Given the description of an element on the screen output the (x, y) to click on. 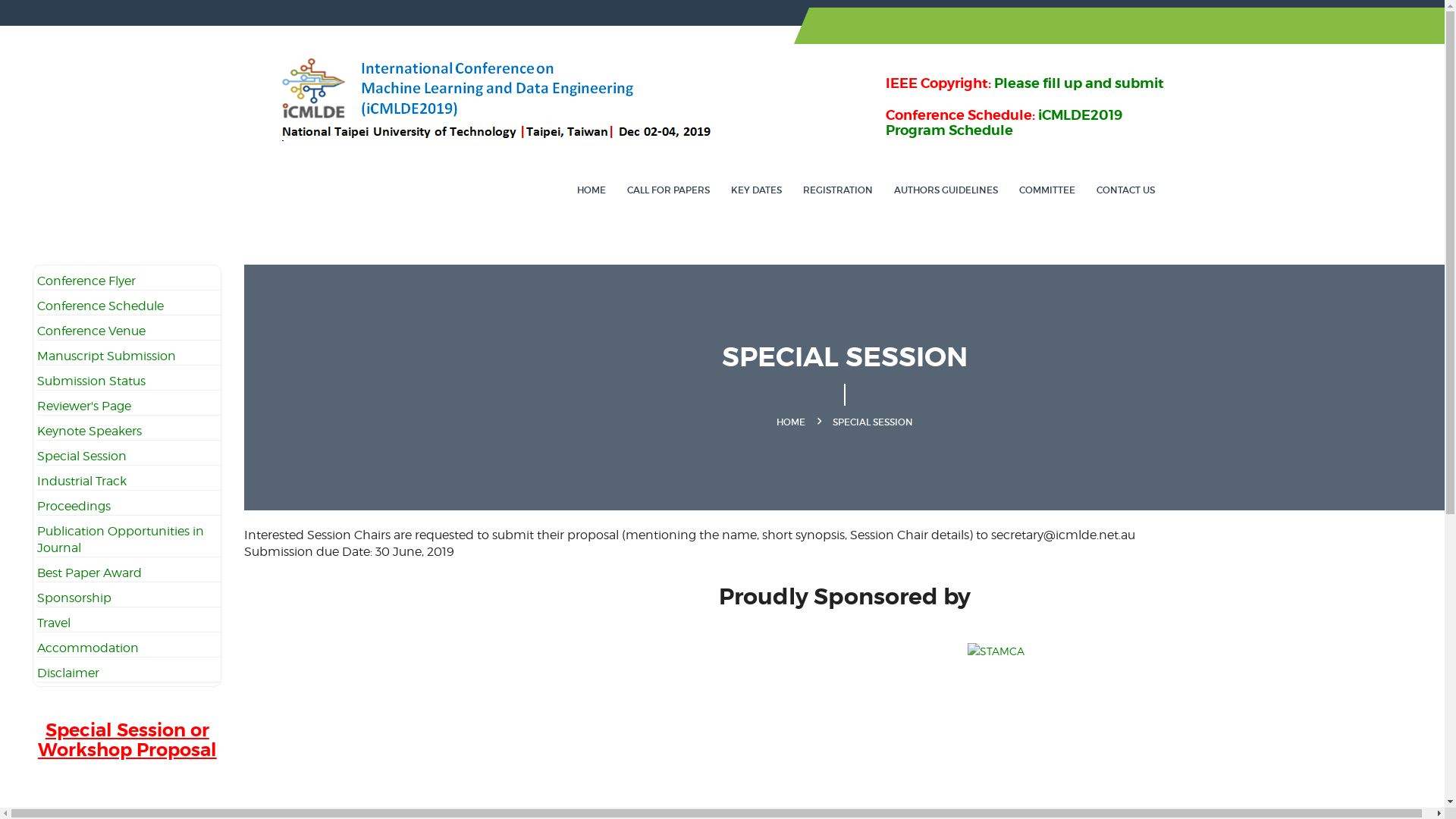
Submission Status Element type: text (91, 380)
Conference Schedule Element type: text (100, 305)
Sponsorship Element type: text (74, 597)
Keynote Speakers Element type: text (89, 430)
Best Paper Award Element type: text (89, 572)
iCMLDE2019 Program Schedule Element type: text (1003, 122)
HOME Element type: text (790, 421)
CONTACT US Element type: text (1125, 189)
Special Session or Workshop Proposal Element type: text (126, 747)
Industrial Track Element type: text (81, 480)
AUTHORS GUIDELINES Element type: text (945, 189)
Conference Venue Element type: text (91, 330)
Publication Opportunities in Journal Element type: text (120, 539)
Reviewer's Page Element type: text (84, 405)
Special Session Element type: text (81, 455)
Proceedings Element type: text (73, 505)
HOME Element type: text (590, 189)
Manuscript Submission Element type: text (106, 355)
COMMITTEE Element type: text (1047, 189)
Please fill up and submit Element type: text (1078, 82)
CALL FOR PAPERS Element type: text (667, 189)
REGISTRATION Element type: text (837, 189)
Accommodation Element type: text (87, 647)
Disclaimer Element type: text (68, 672)
KEY DATES Element type: text (756, 189)
Conference Flyer Element type: text (86, 280)
Travel Element type: text (53, 622)
